Given the description of an element on the screen output the (x, y) to click on. 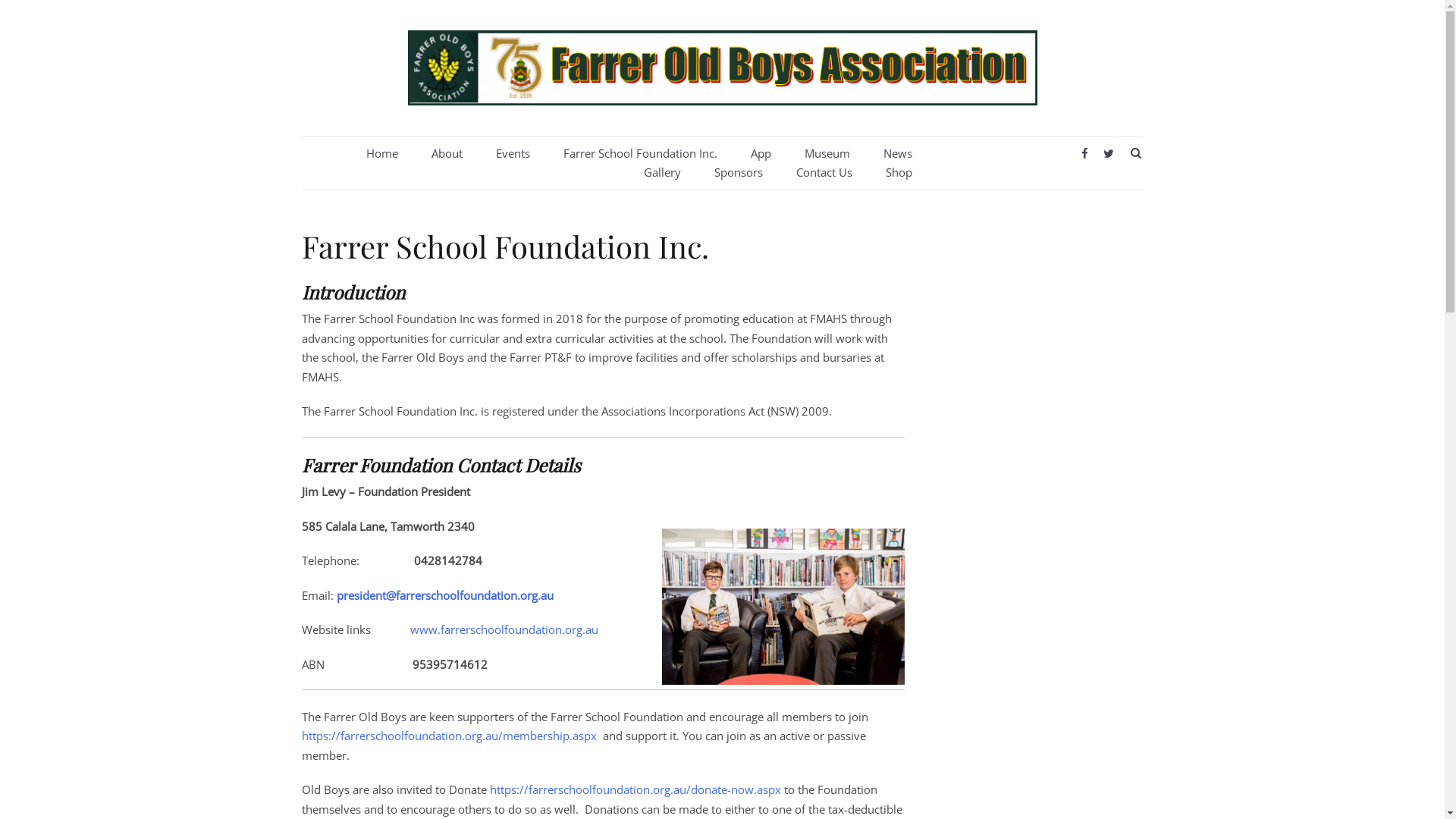
About Element type: text (445, 153)
Shop Element type: text (898, 172)
Events Element type: text (512, 153)
App Element type: text (760, 153)
News Element type: text (896, 153)
Contact Us Element type: text (824, 172)
Museum Element type: text (826, 153)
p Element type: text (339, 594)
Gallery Element type: text (661, 172)
Farrer Old Boys Association Element type: text (471, 128)
www.farrerschoolfoundation.org.au Element type: text (503, 629)
SEARCH BUTTON Element type: text (1135, 152)
resident@farrerschoolfoundation.org.au Element type: text (447, 594)
Home Element type: text (381, 153)
https://farrerschoolfoundation.org.au/donate-now.aspx Element type: text (635, 789)
https://farrerschoolfoundation.org.au/membership.aspx Element type: text (448, 735)
Sponsors Element type: text (738, 172)
Farrer School Foundation Inc. Element type: text (639, 153)
